Given the description of an element on the screen output the (x, y) to click on. 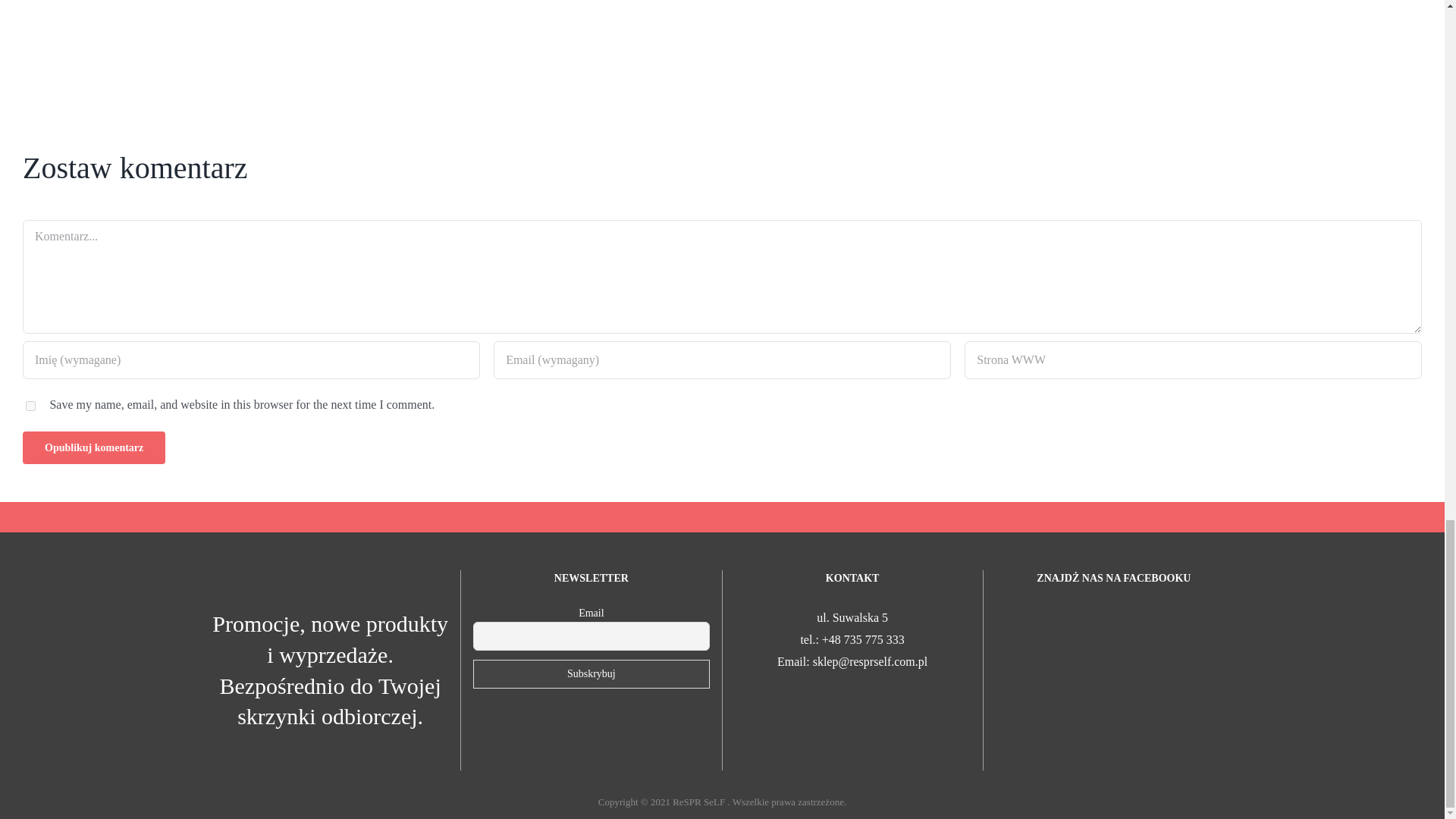
Subskrybuj (591, 674)
yes (30, 406)
Opublikuj komentarz (94, 447)
